Given the description of an element on the screen output the (x, y) to click on. 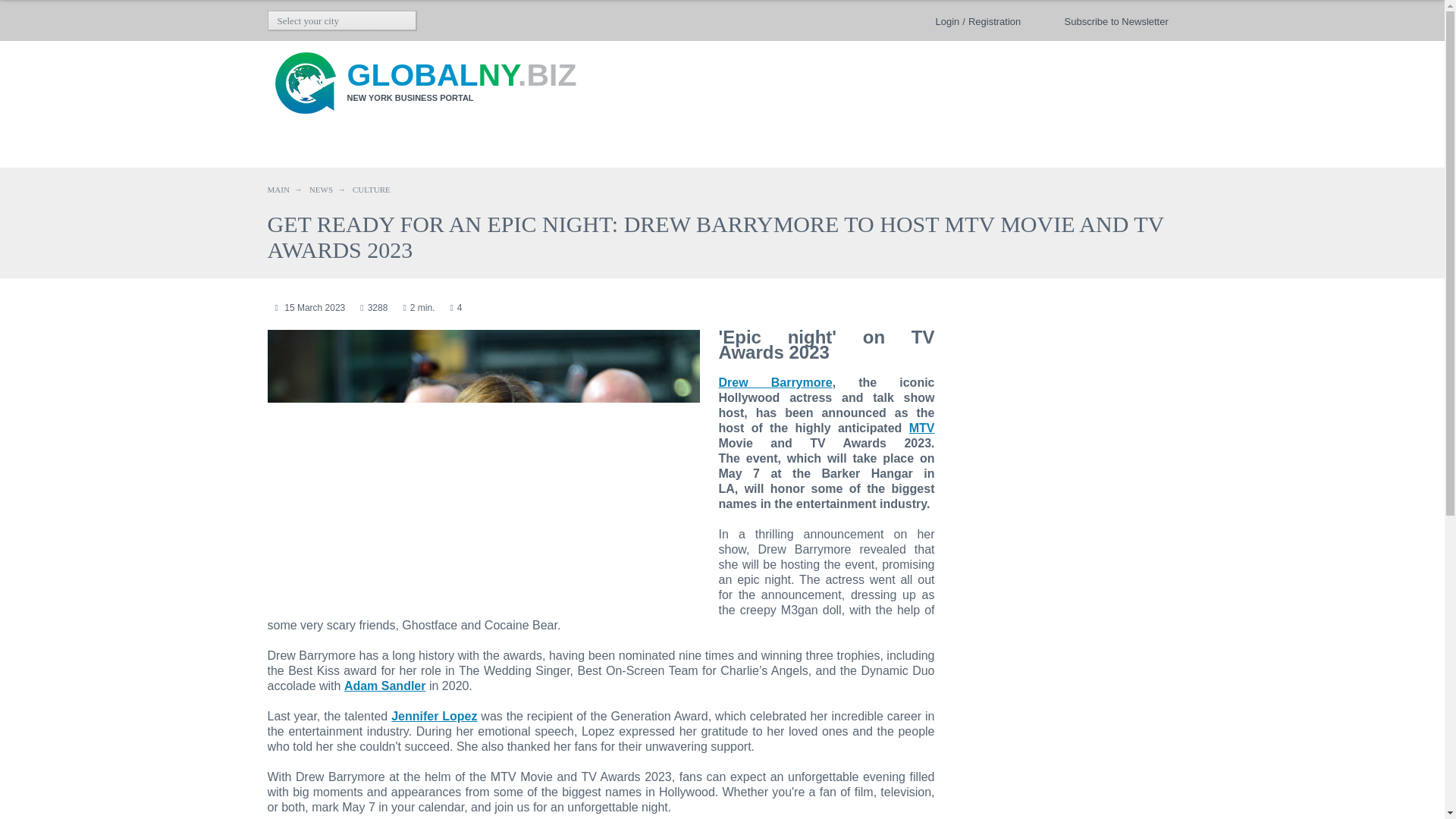
Login (947, 21)
JOB (758, 149)
NEWS (320, 189)
GLOBALNY.BIZ (461, 74)
MAIN (277, 189)
RESUME (829, 149)
PEOPLE (583, 149)
Adam Sandler (384, 685)
HOROSCOPES (932, 149)
Registration (994, 21)
